Given the description of an element on the screen output the (x, y) to click on. 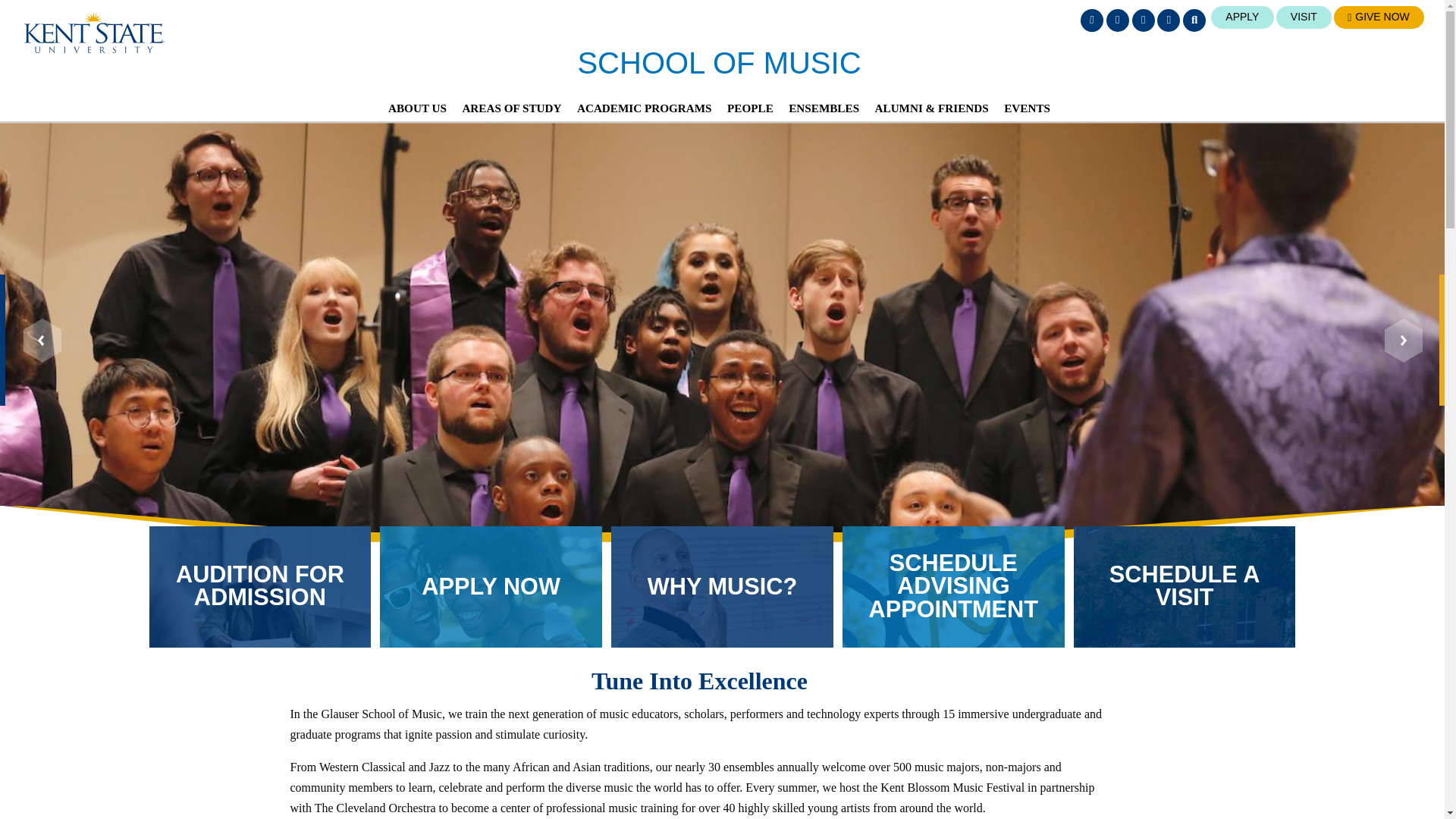
APPLY (1241, 16)
GIVE NOW (1378, 16)
Kent State Unviersity logo (94, 32)
VISIT (1304, 16)
SCHOOL OF MUSIC (718, 63)
ABOUT US (416, 107)
